Given the description of an element on the screen output the (x, y) to click on. 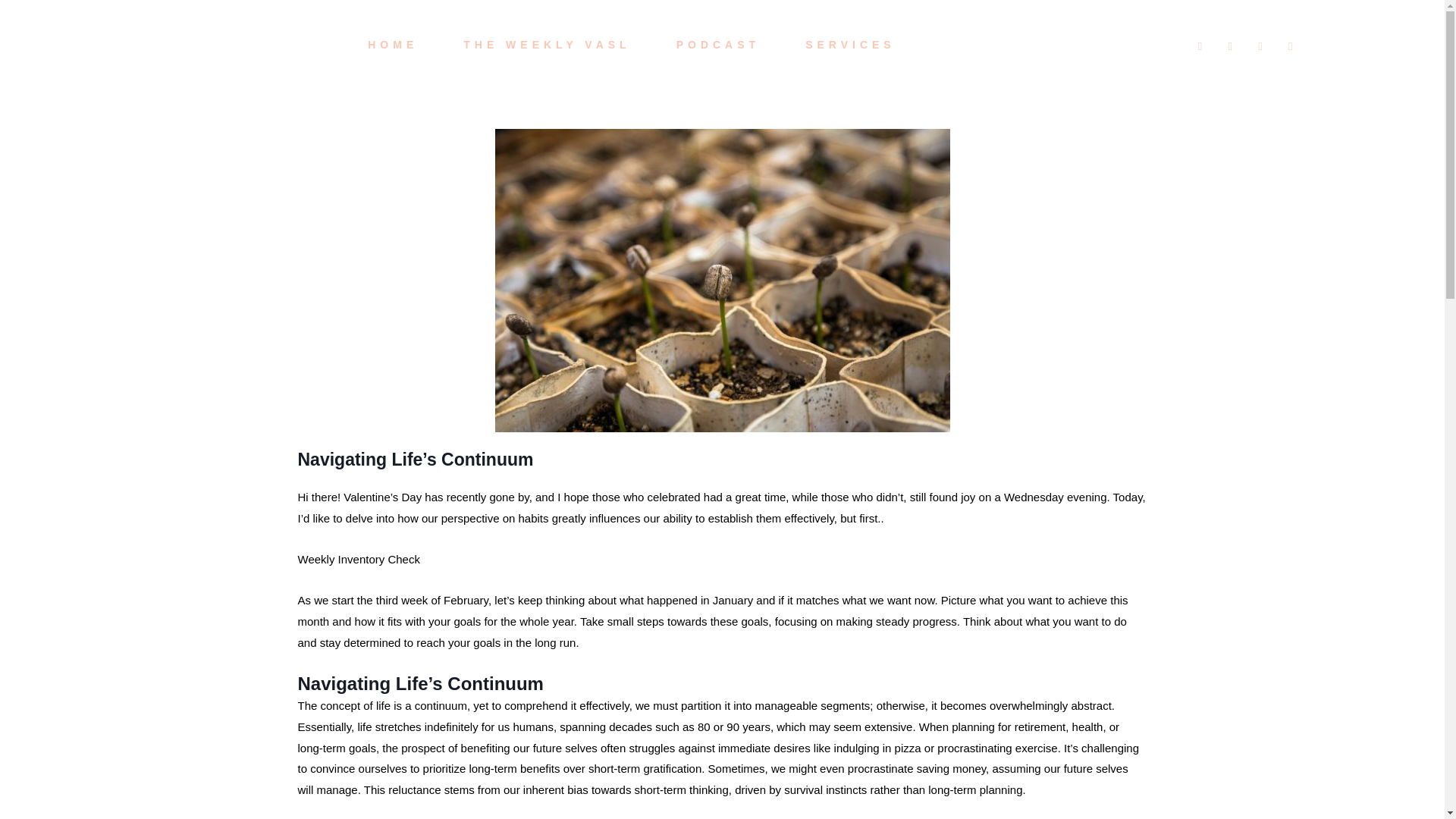
SERVICES (850, 45)
PODCAST (718, 45)
THE WEEKLY VASL (546, 45)
HOME (393, 45)
